Given the description of an element on the screen output the (x, y) to click on. 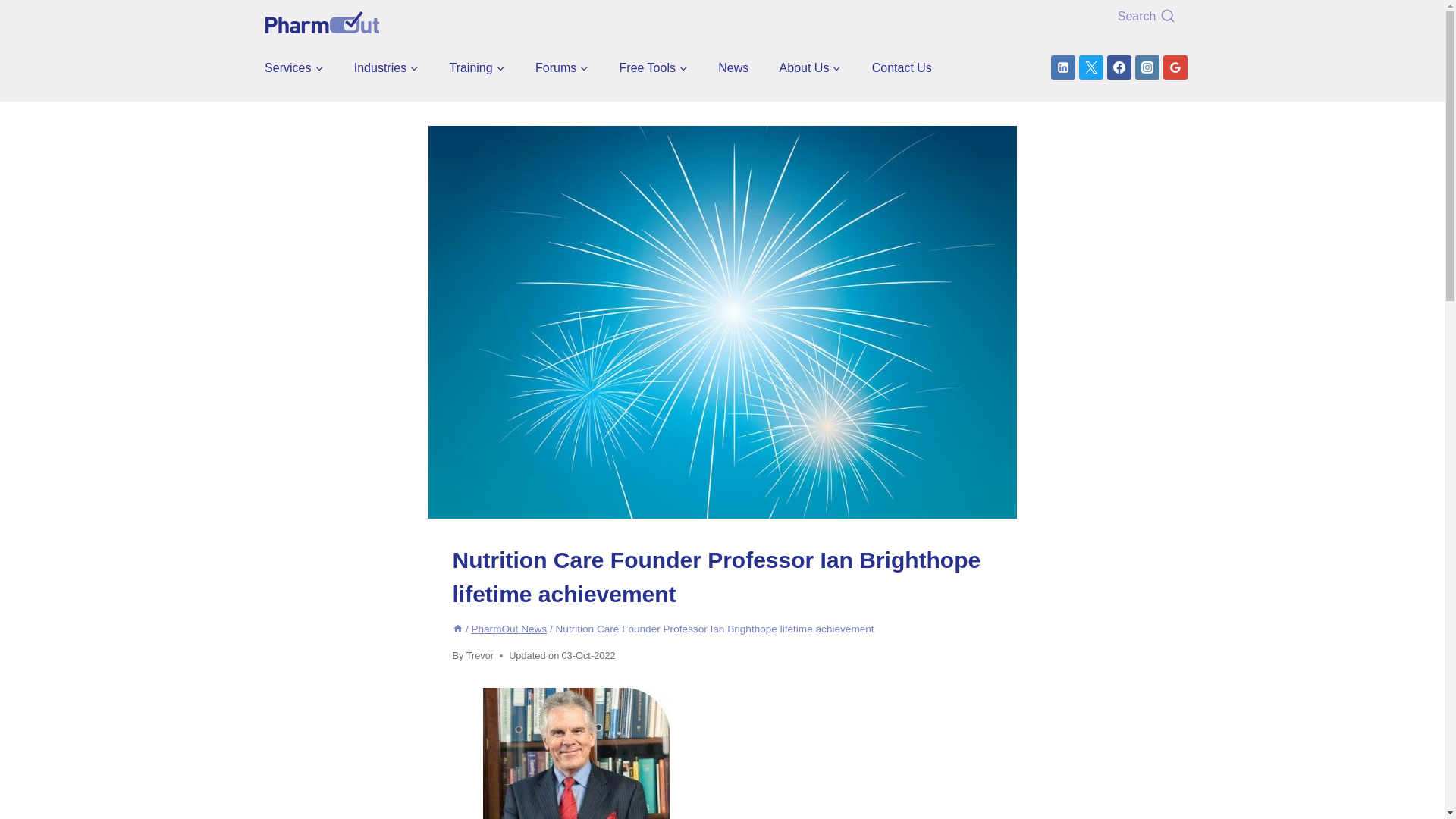
Search (1080, 16)
Services (294, 67)
Free GMP tools (653, 67)
GMP Training (477, 67)
Home (457, 628)
Industries (386, 67)
